Given the description of an element on the screen output the (x, y) to click on. 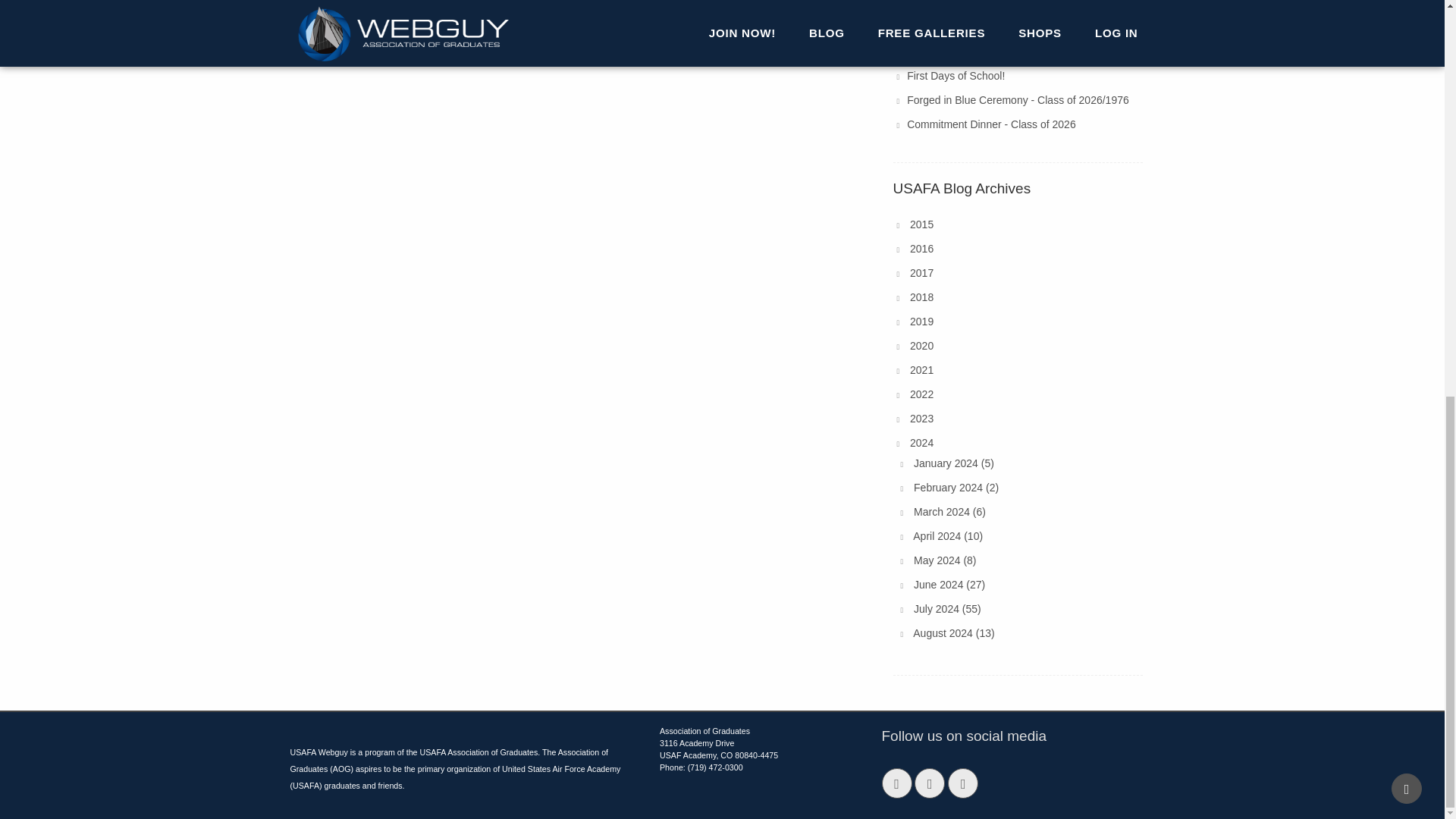
Cadet Wing Pre-Parade and Parade Activities! (1015, 27)
August Airfield! (941, 4)
Cadet Club Info Fair (954, 51)
First Days of School! (955, 75)
Commitment Dinner - Class of 2026 (991, 123)
